Given the description of an element on the screen output the (x, y) to click on. 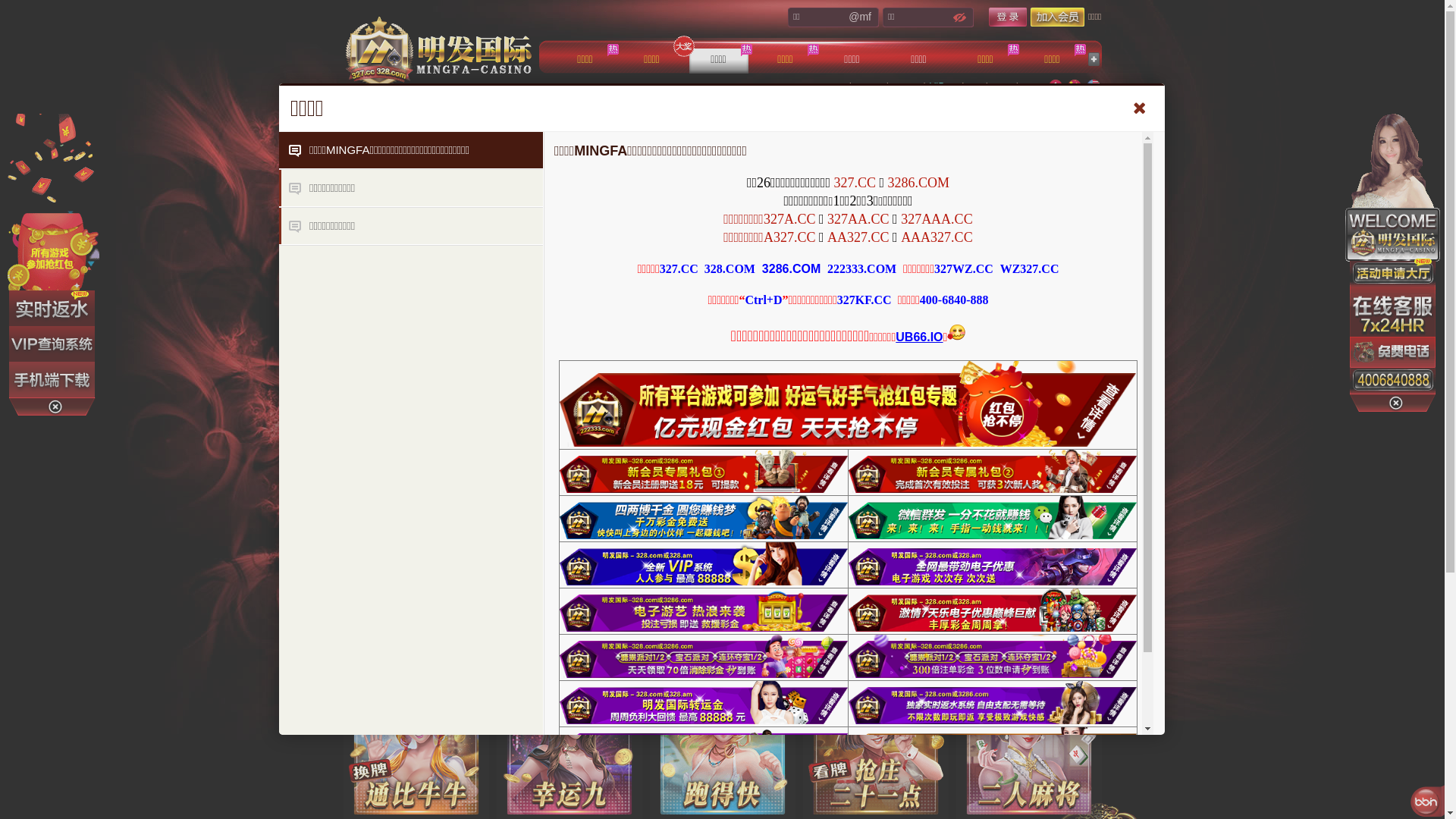
English Element type: hover (1092, 86)
327KF.CC Element type: text (864, 299)
UB66.IO Element type: text (918, 336)
